Given the description of an element on the screen output the (x, y) to click on. 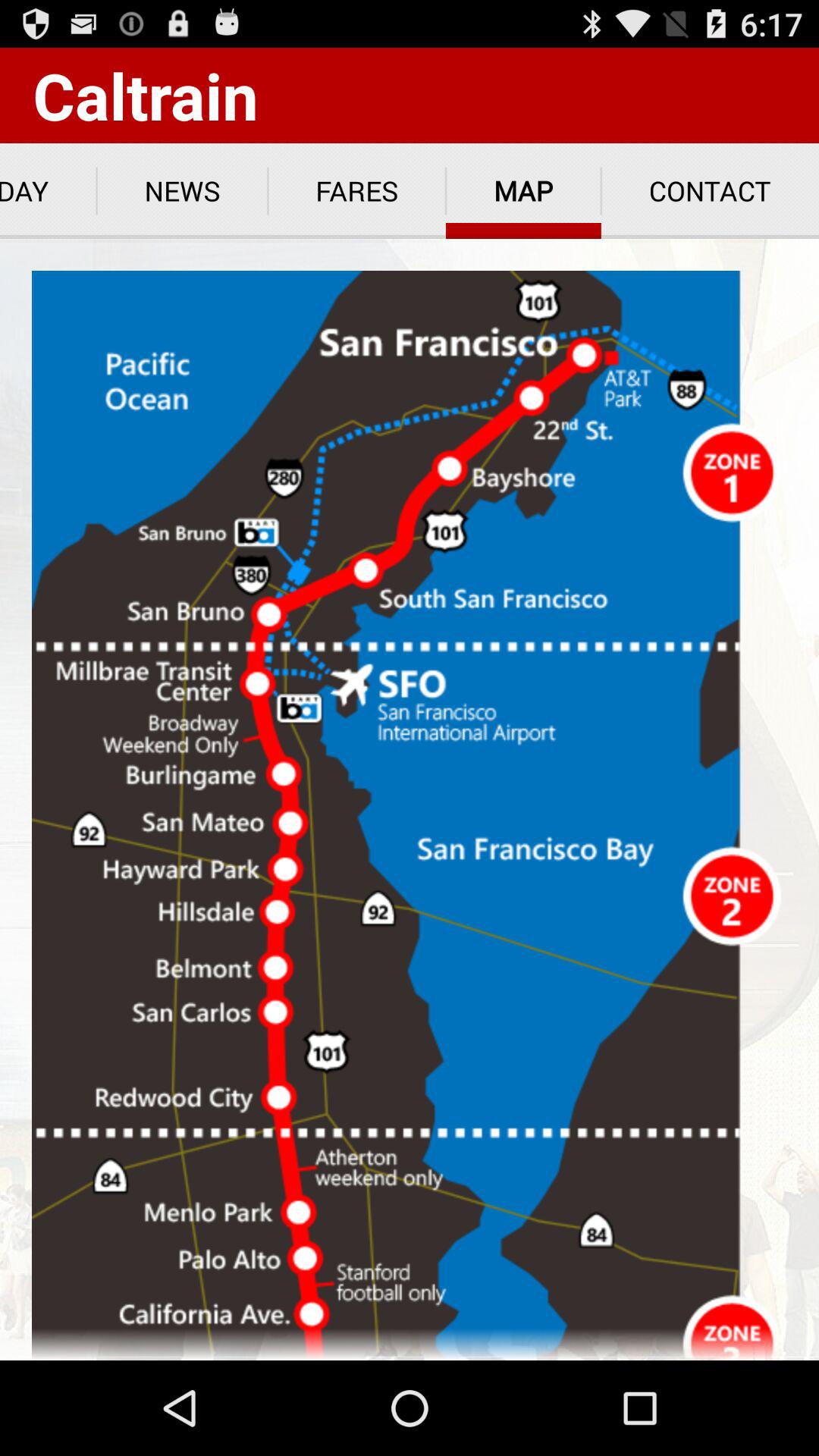
launch the contact (710, 190)
